Given the description of an element on the screen output the (x, y) to click on. 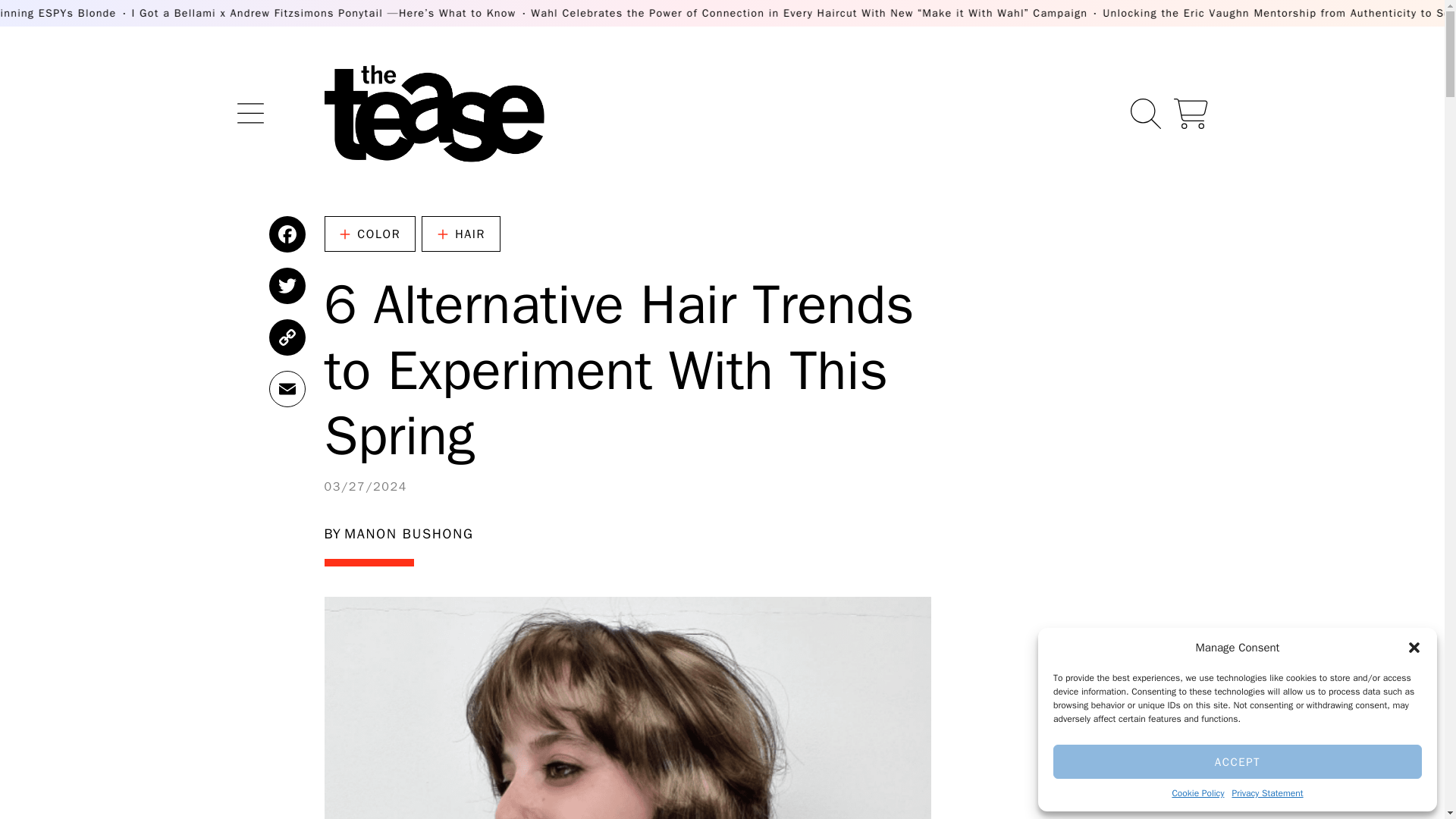
Email (285, 389)
COLOR (370, 233)
Copy Link (285, 337)
ACCEPT (1237, 761)
HAIR (461, 233)
Cookie Policy (1198, 793)
MANON BUSHONG (408, 533)
Privacy Statement (1267, 793)
Facebook (285, 234)
Twitter (285, 285)
